Given the description of an element on the screen output the (x, y) to click on. 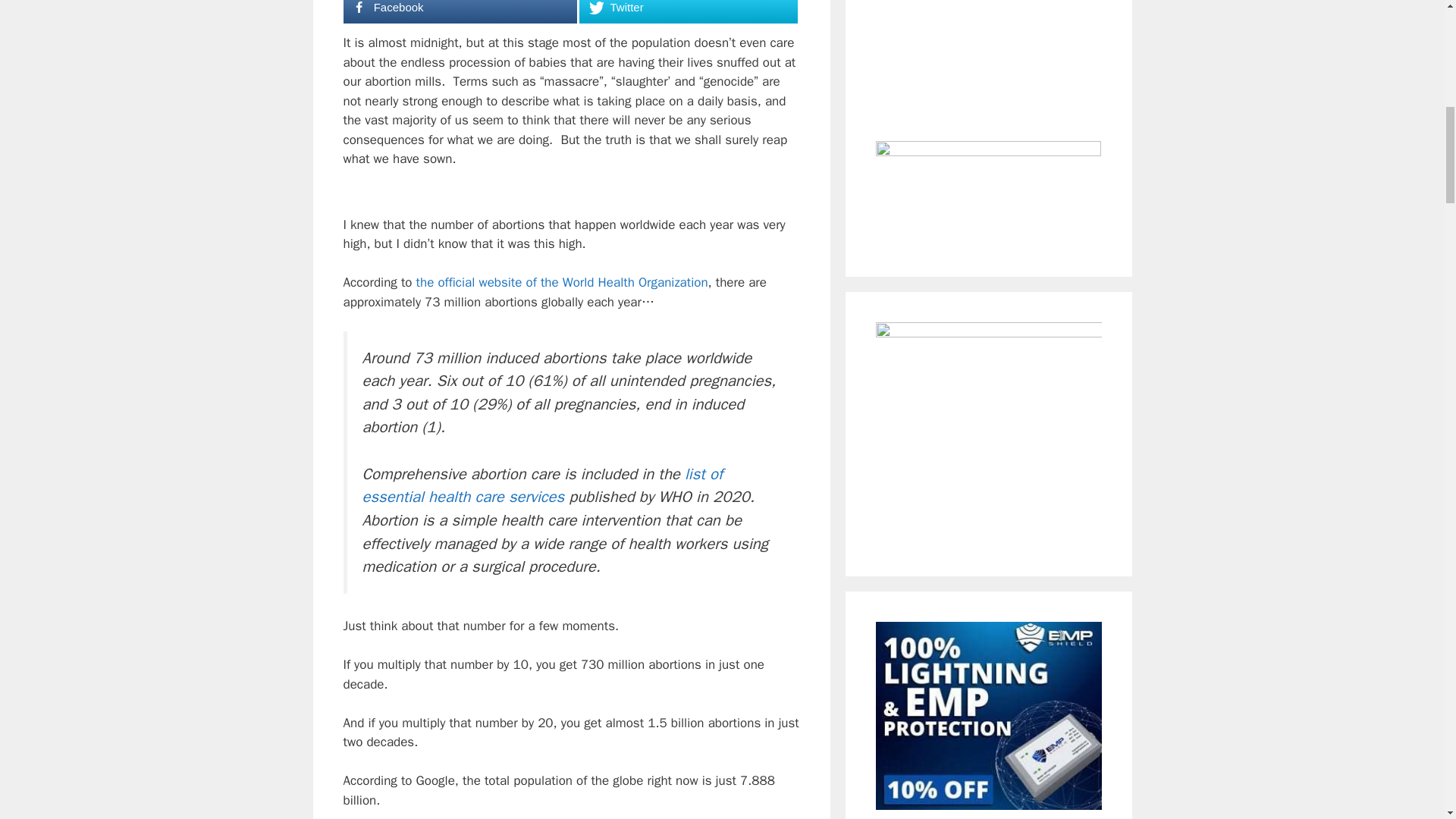
list of essential health care services (542, 485)
Facebook (459, 11)
Twitter (687, 11)
the official website of the World Health Organization (561, 282)
